Given the description of an element on the screen output the (x, y) to click on. 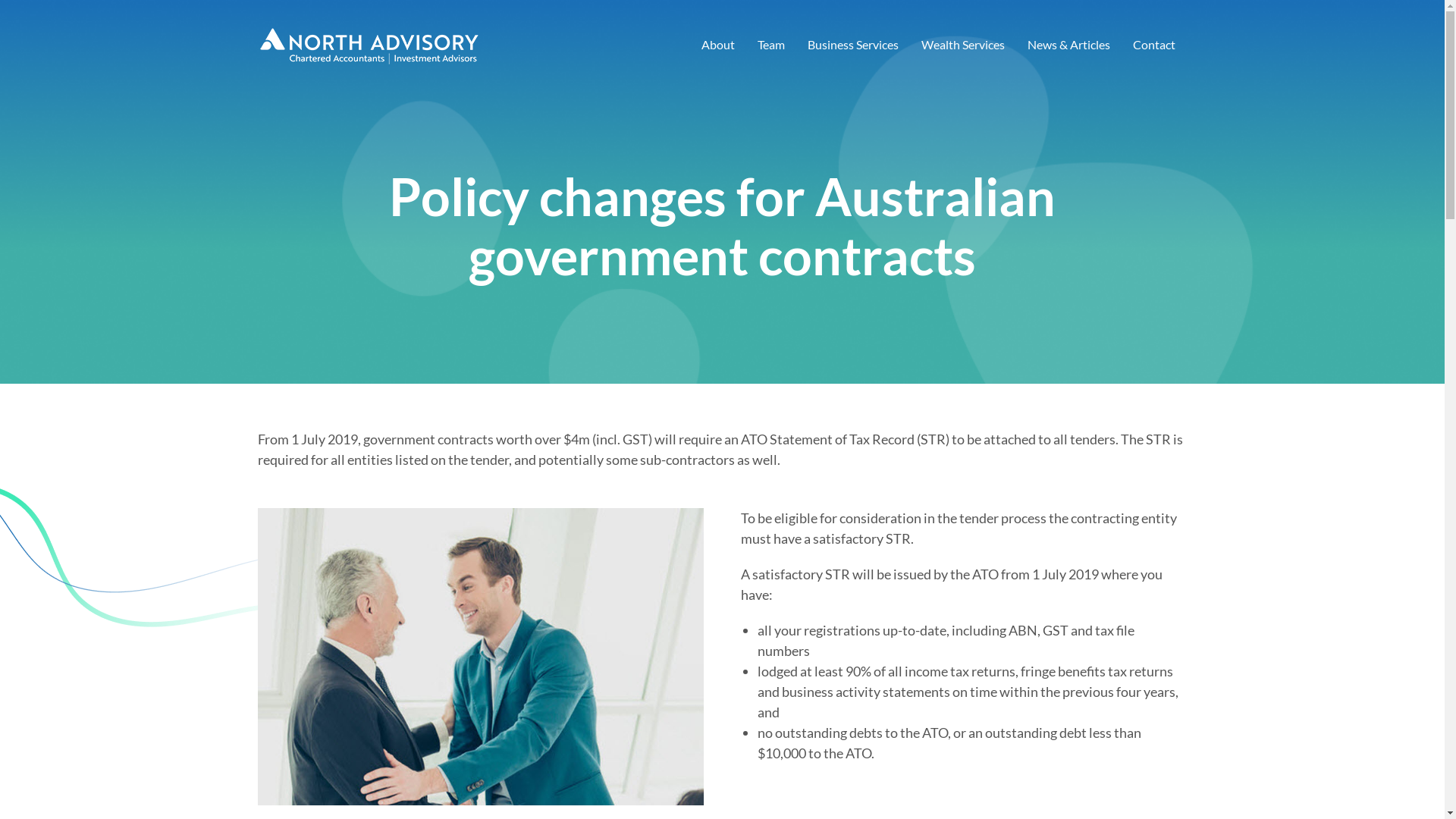
Contact Element type: text (1153, 45)
Business Services Element type: text (852, 45)
News & Articles Element type: text (1068, 45)
Team Element type: text (770, 45)
Wealth Services Element type: text (962, 45)
About Element type: text (717, 45)
